Given the description of an element on the screen output the (x, y) to click on. 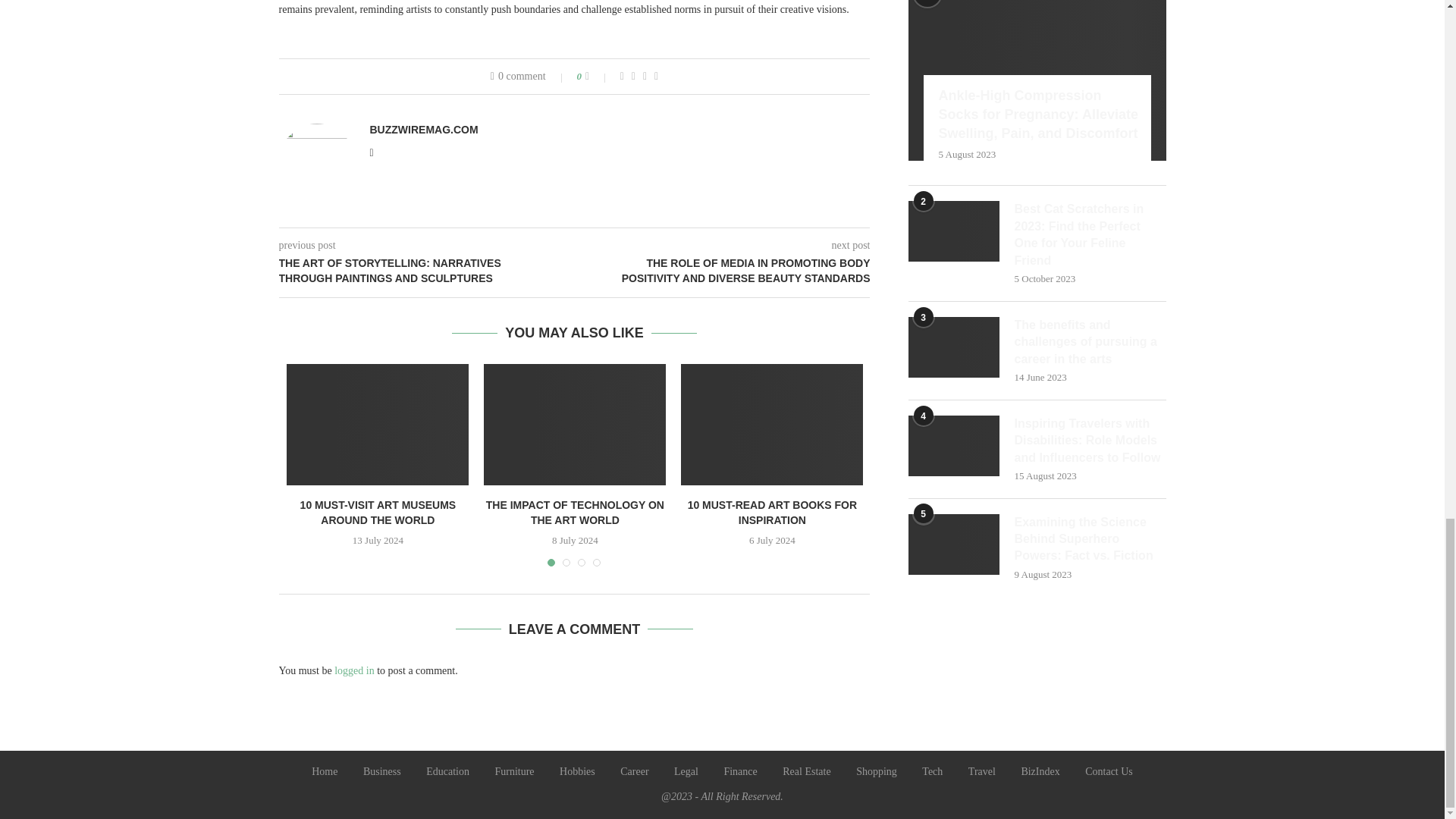
10 must-visit art museums around the world (377, 424)
The impact of technology on the art world (574, 424)
10 must-read art books for inspiration (772, 424)
Like (597, 76)
Author buzzwiremag.com (424, 129)
